Given the description of an element on the screen output the (x, y) to click on. 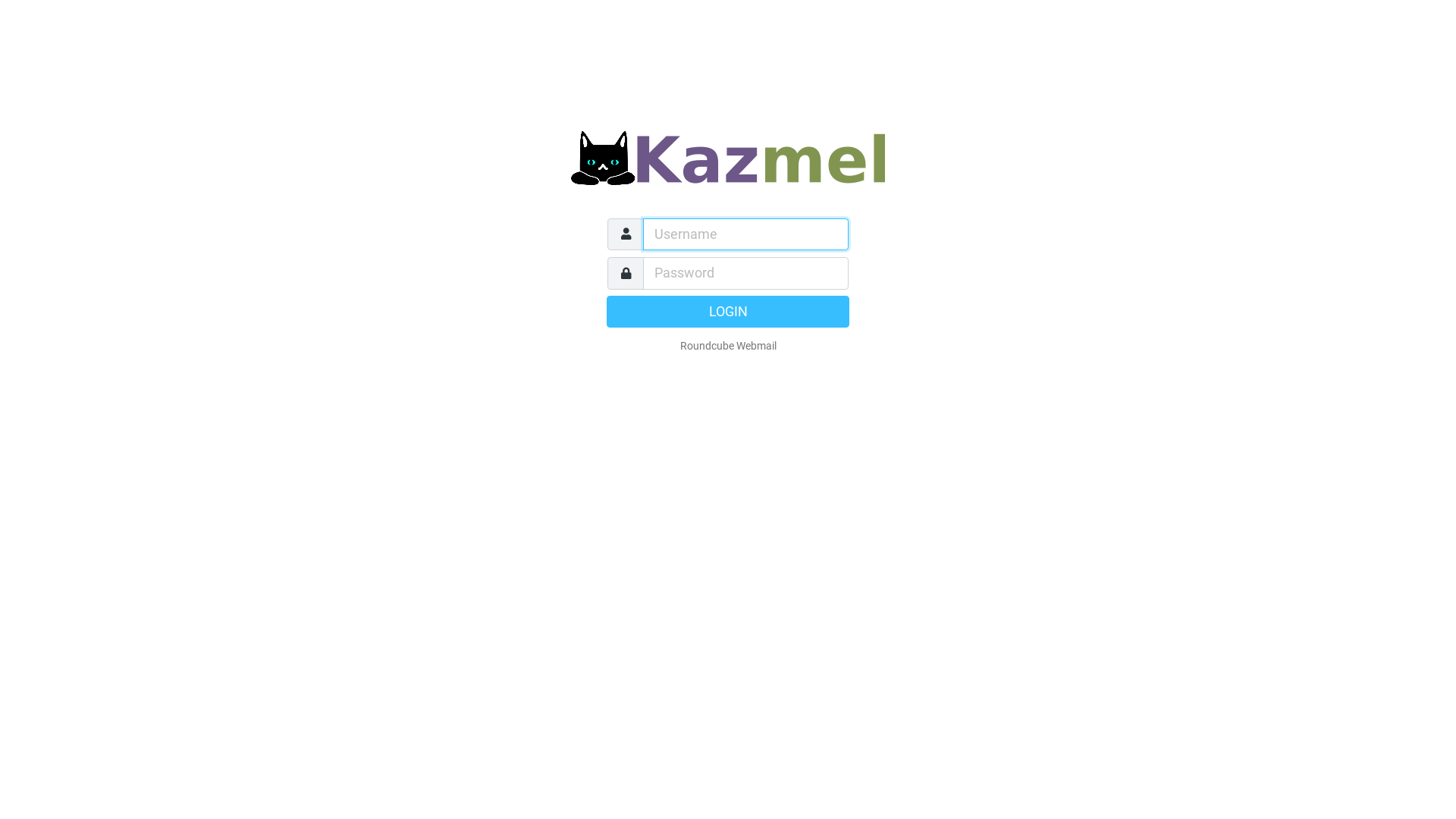
LOGIN Element type: text (727, 311)
